Given the description of an element on the screen output the (x, y) to click on. 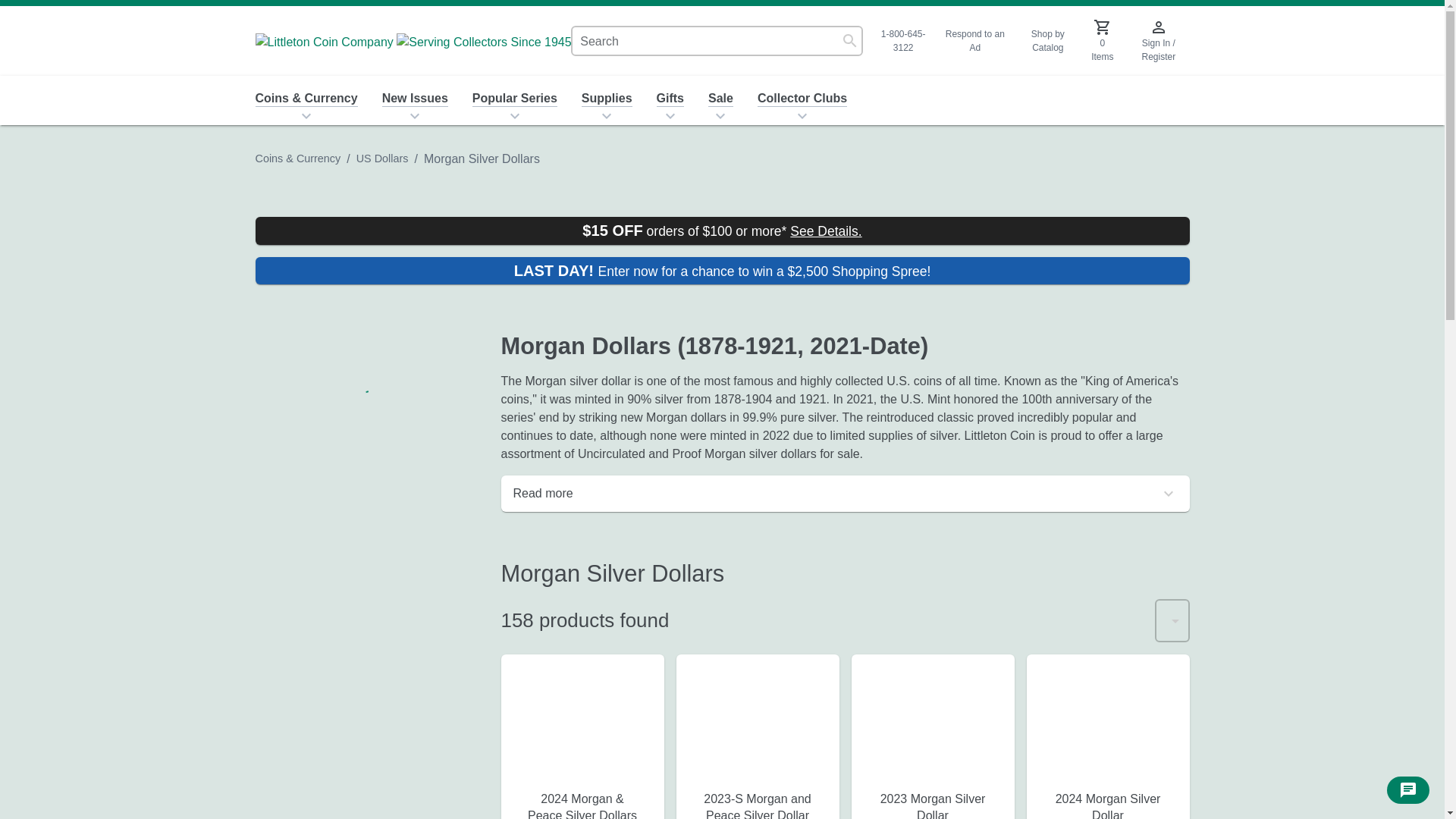
Respond to an Ad (974, 40)
Shop by Catalog (1047, 40)
Sale (720, 98)
Collector Clubs (802, 98)
Gifts (670, 98)
2023 Morgan Silver Dollar (932, 731)
2023-S Morgan and Peace Silver Dollar Reverse Proof Set (757, 731)
Popular Series (514, 98)
2024 Morgan Silver Dollar (1108, 731)
New Issues (414, 98)
